Given the description of an element on the screen output the (x, y) to click on. 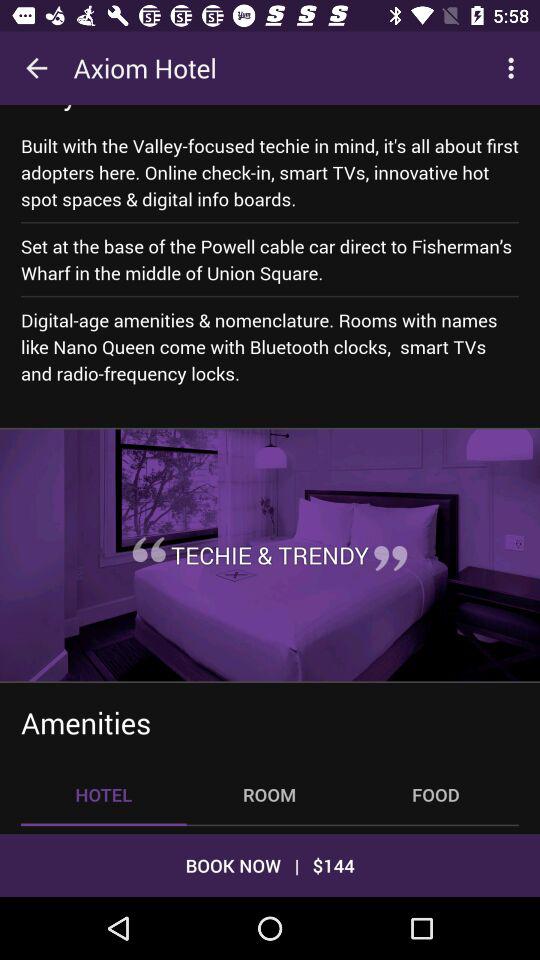
press the book now   |   $144 item (270, 864)
